Given the description of an element on the screen output the (x, y) to click on. 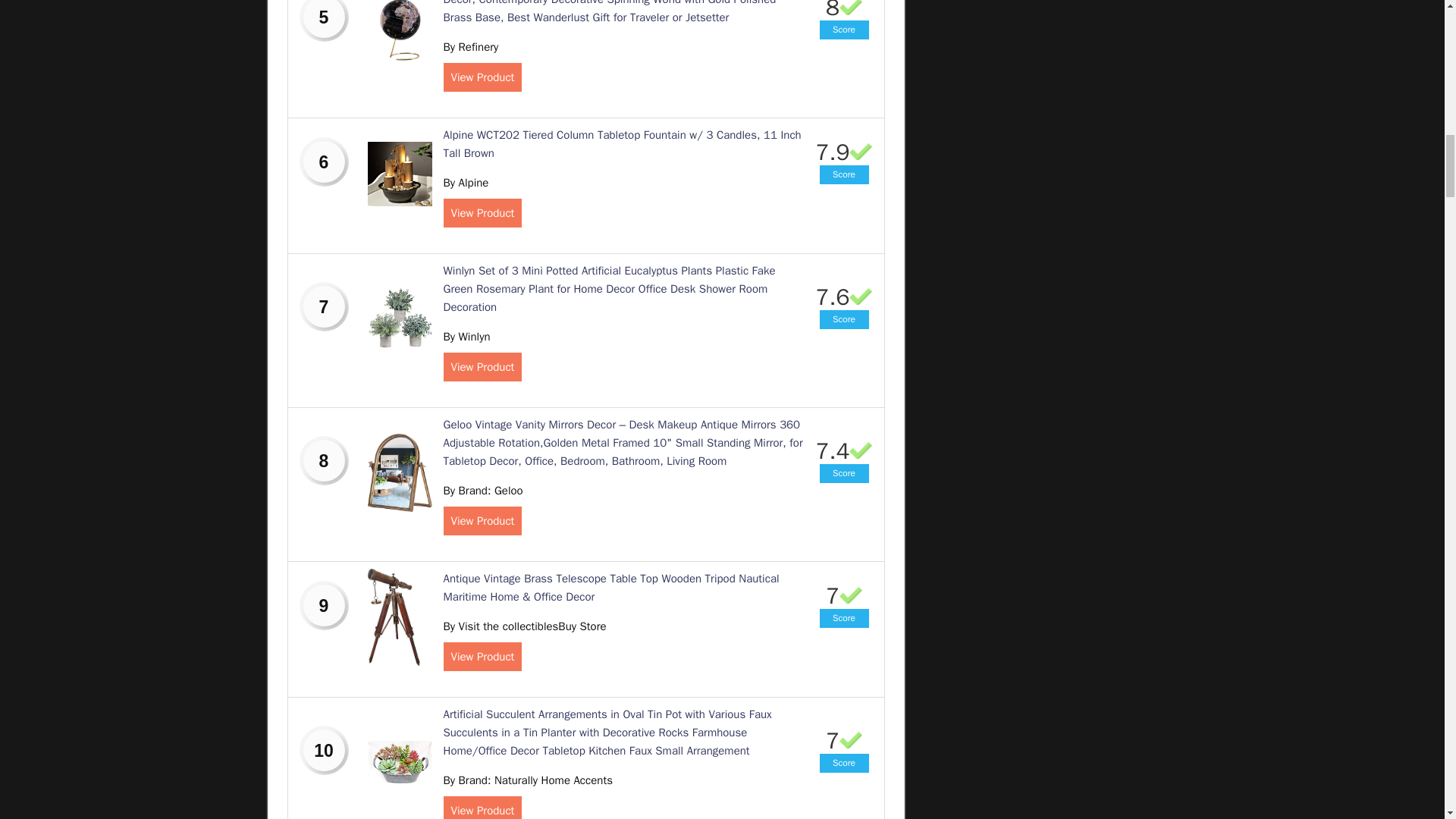
By Refinery (469, 47)
View Product (481, 213)
View Product (481, 77)
By Alpine (464, 182)
